Given the description of an element on the screen output the (x, y) to click on. 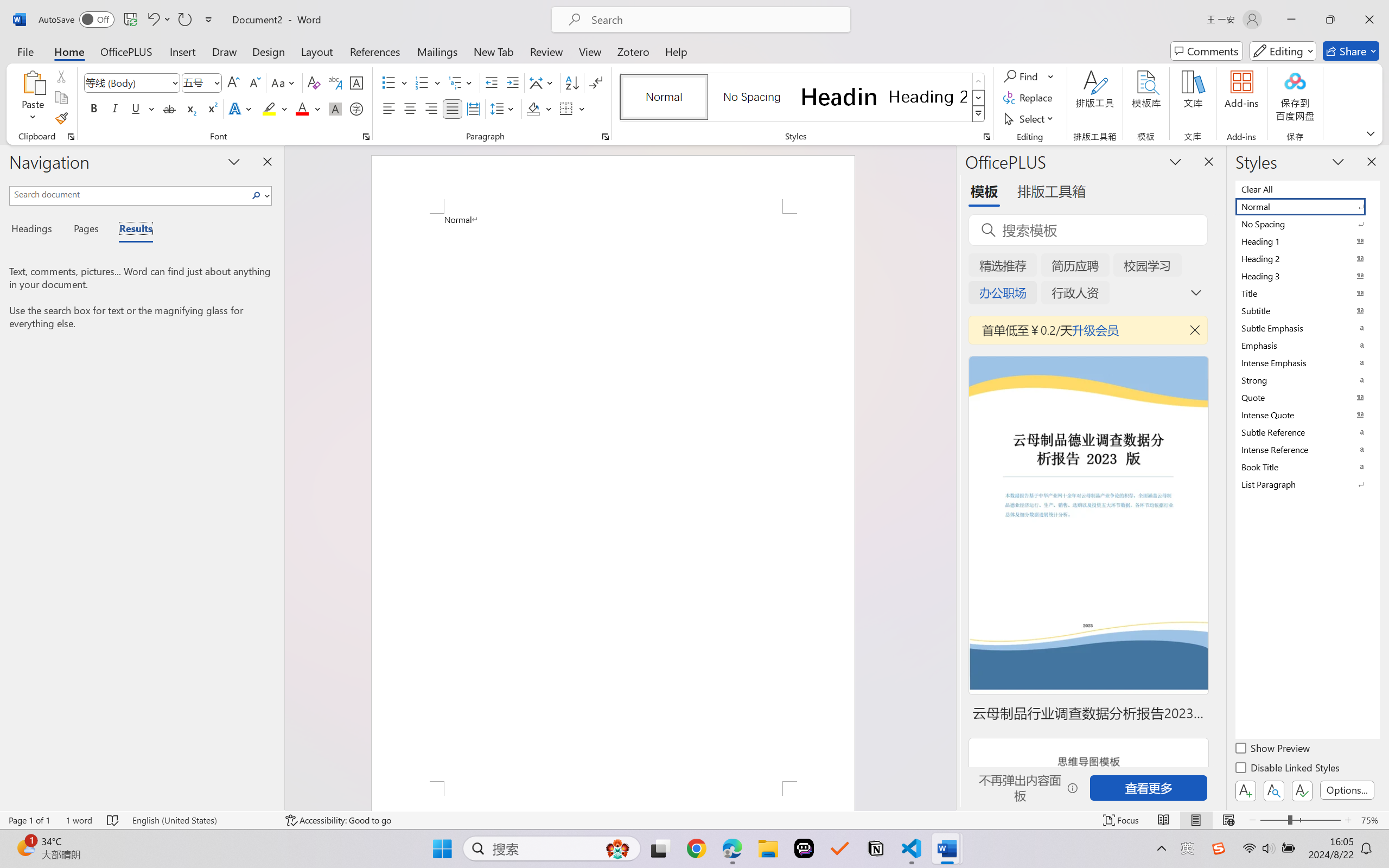
Paragraph... (605, 136)
View (589, 51)
Align Right (431, 108)
Strong (1306, 379)
AutoSave (76, 19)
Accessibility Checker Accessibility: Good to go (338, 819)
Find (1029, 75)
Zotero (632, 51)
Page 1 content (612, 497)
Insert (182, 51)
